Given the description of an element on the screen output the (x, y) to click on. 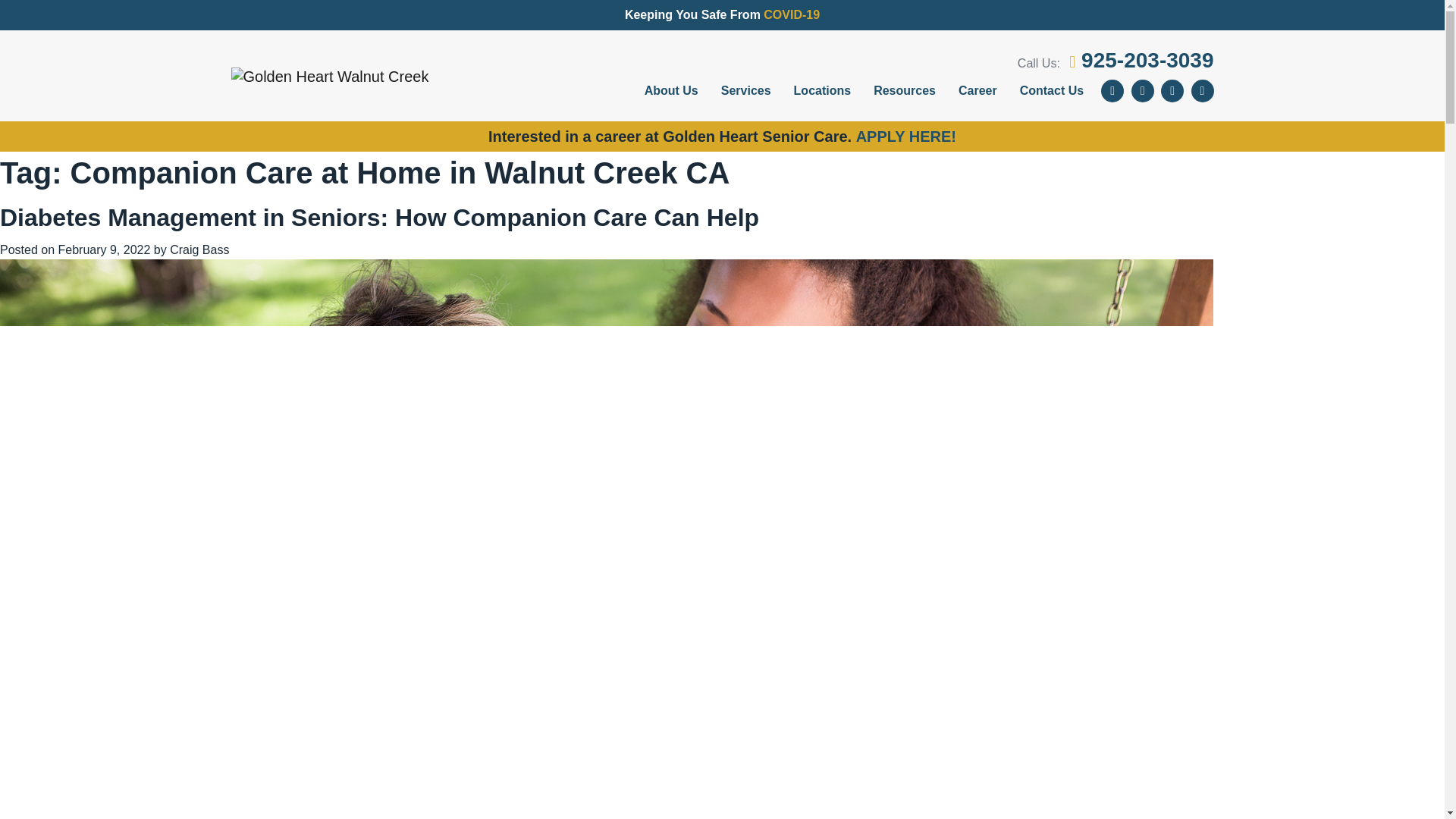
About Us (671, 91)
February 9, 2022 (103, 249)
Resources (904, 91)
APPLY HERE! (906, 135)
Contact Us (1051, 91)
Craig Bass (199, 249)
COVID-19 (790, 14)
Career (978, 91)
925-203-3039 (1140, 60)
Locations (823, 91)
